Given the description of an element on the screen output the (x, y) to click on. 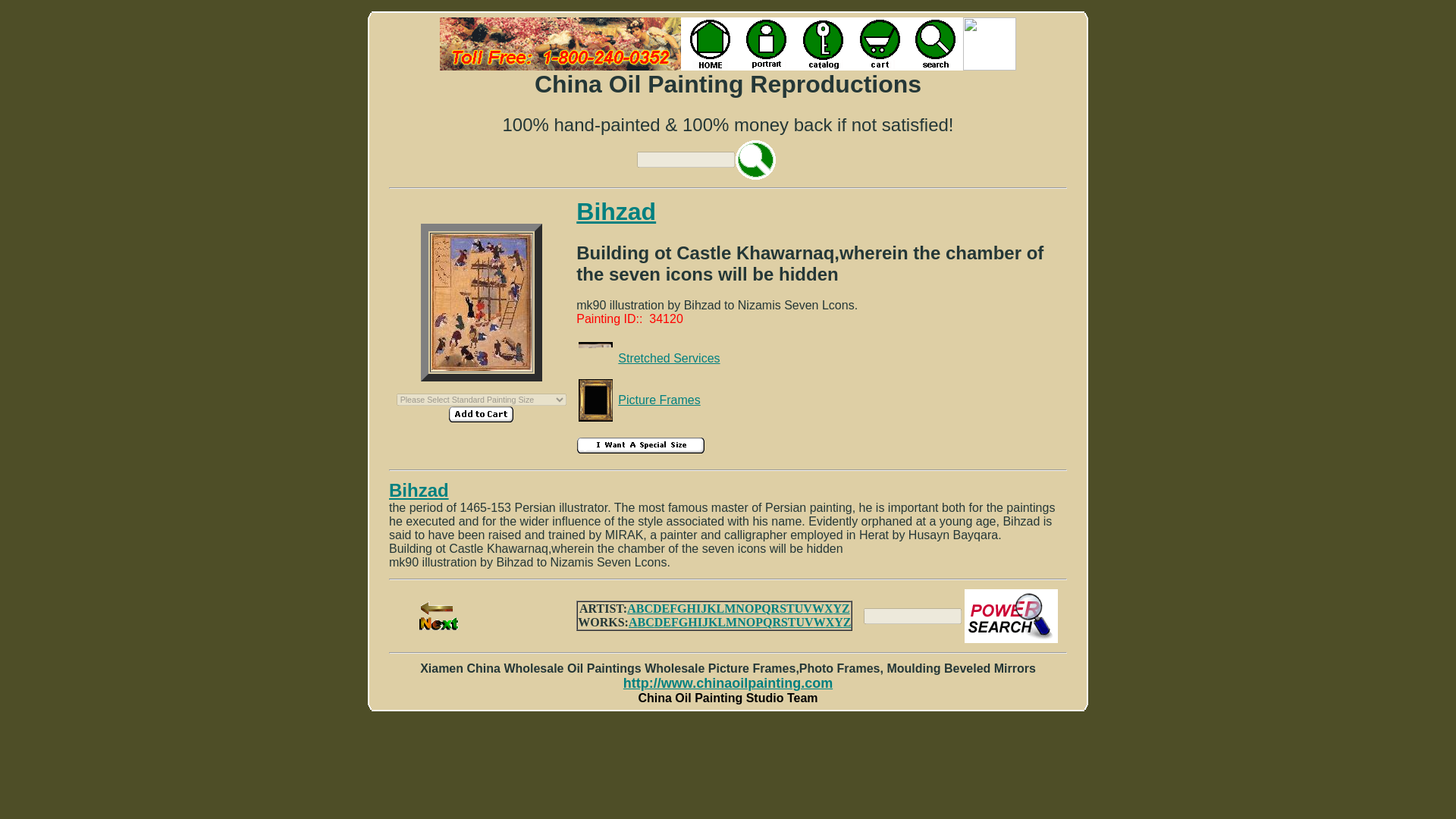
Picture Frames (658, 399)
Bihzad (616, 211)
W (818, 608)
Bihzad (418, 489)
Stretched Services (668, 358)
